Given the description of an element on the screen output the (x, y) to click on. 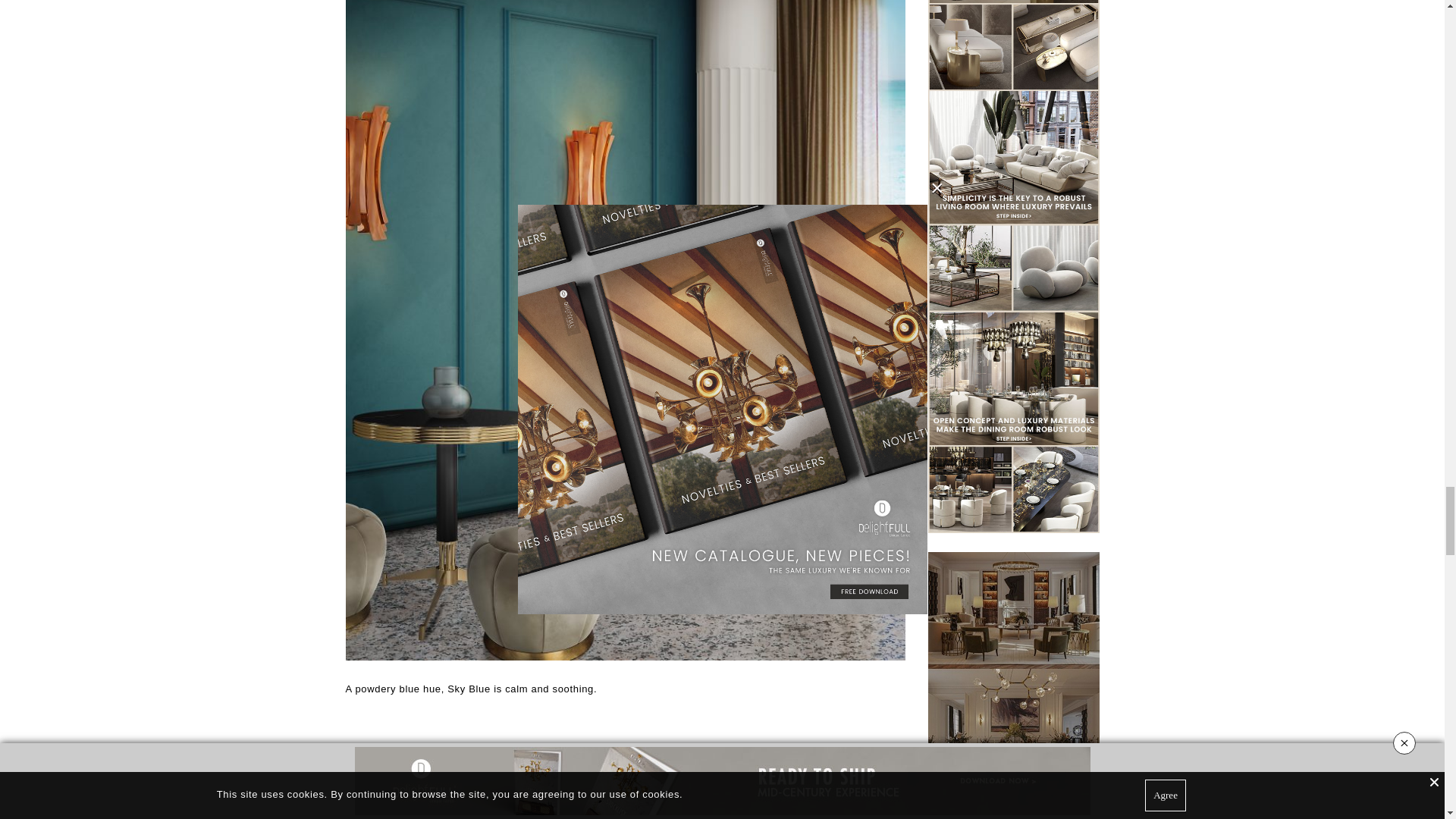
Facebook (593, 792)
